Given the description of an element on the screen output the (x, y) to click on. 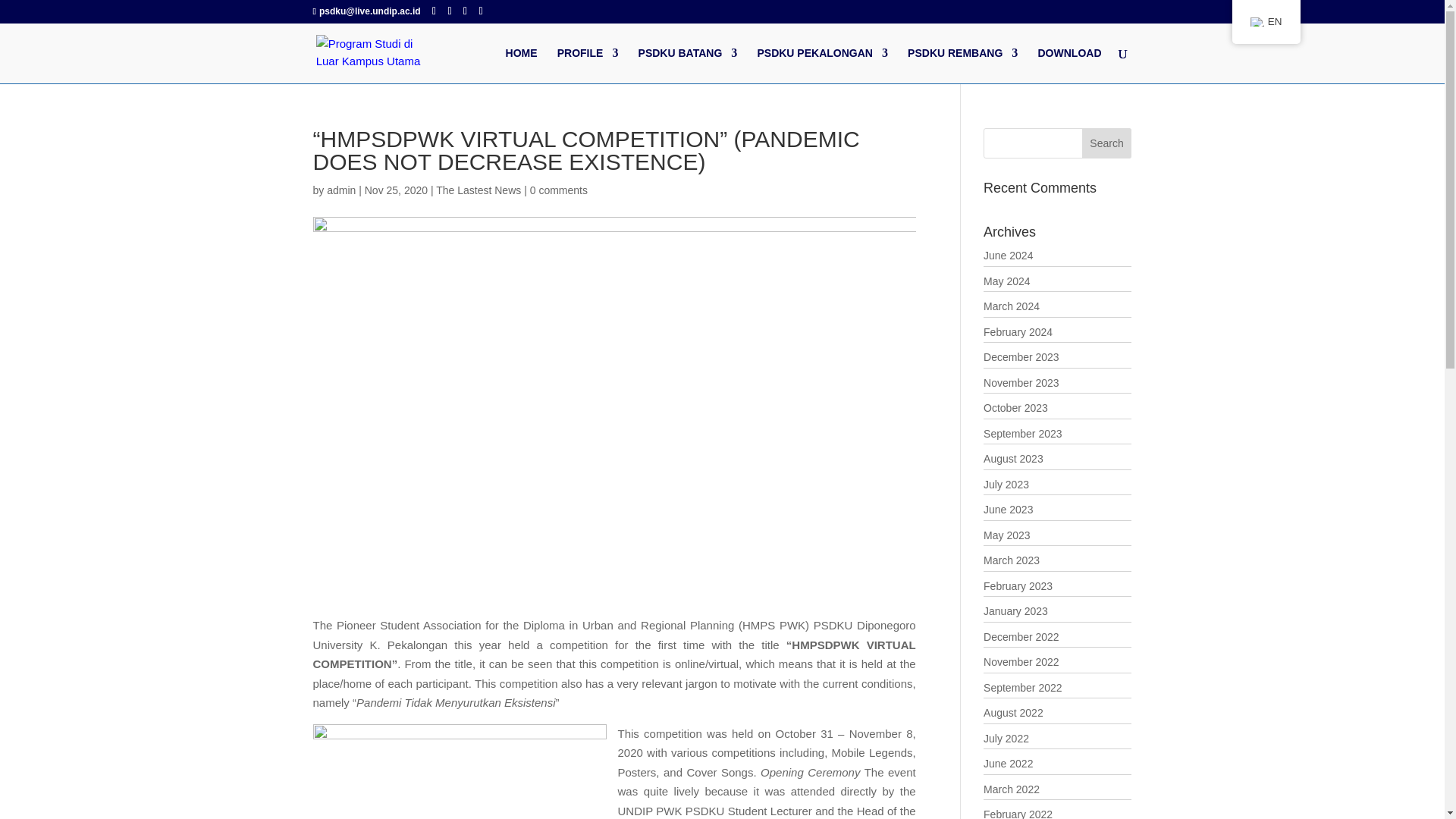
Posts by admin (340, 190)
English (1256, 21)
Search (1106, 142)
HOME (521, 65)
PROFILE (587, 65)
PSDKU BATANG (688, 65)
PSDKU PEKALONGAN (821, 65)
